Given the description of an element on the screen output the (x, y) to click on. 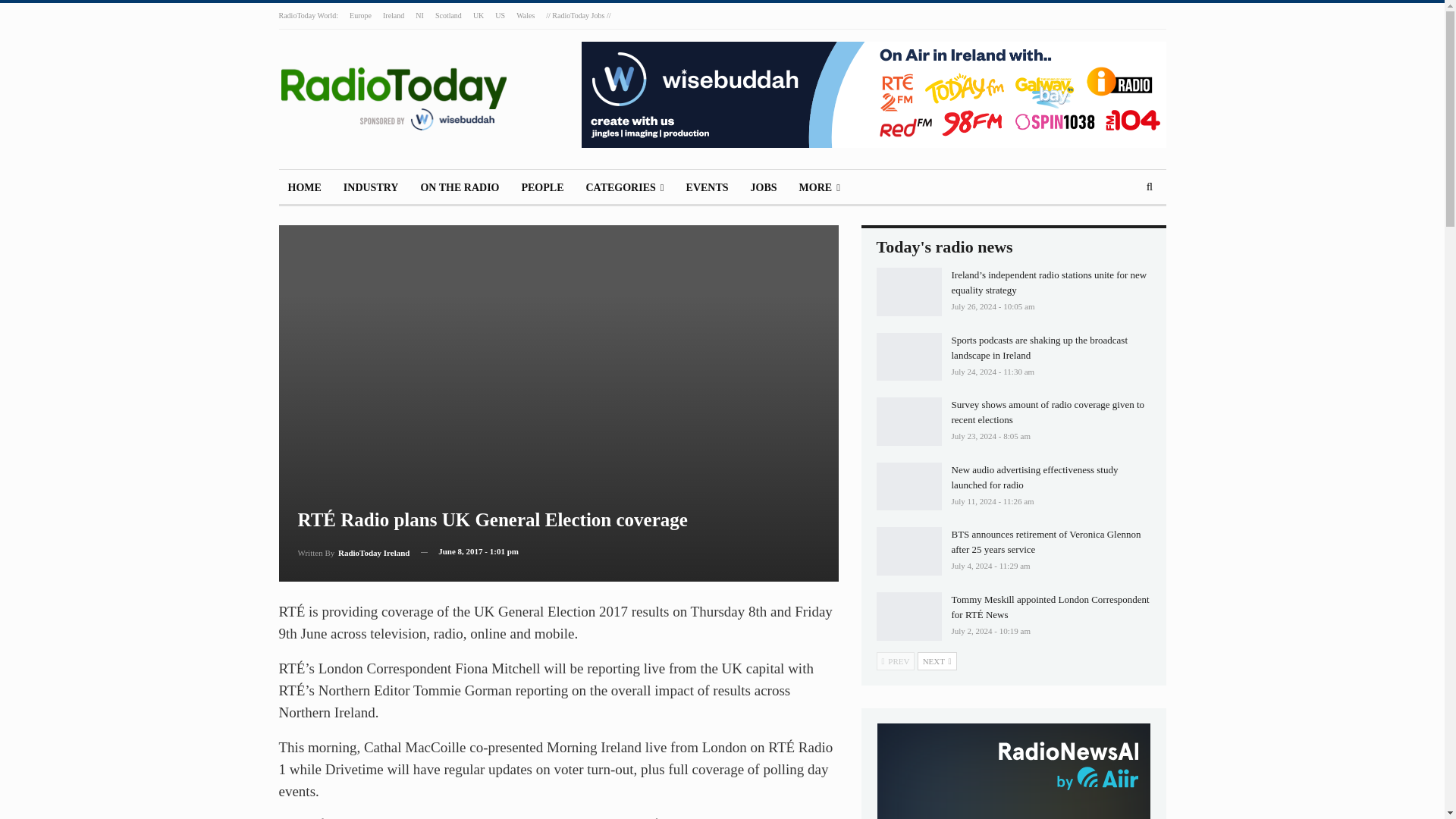
RadioToday World: (309, 15)
NI (418, 15)
Written By RadioToday Ireland (353, 551)
MORE (819, 187)
EVENTS (707, 187)
INDUSTRY (370, 187)
Ireland (393, 15)
US (500, 15)
HOME (304, 187)
Browse Author Articles (353, 551)
